Given the description of an element on the screen output the (x, y) to click on. 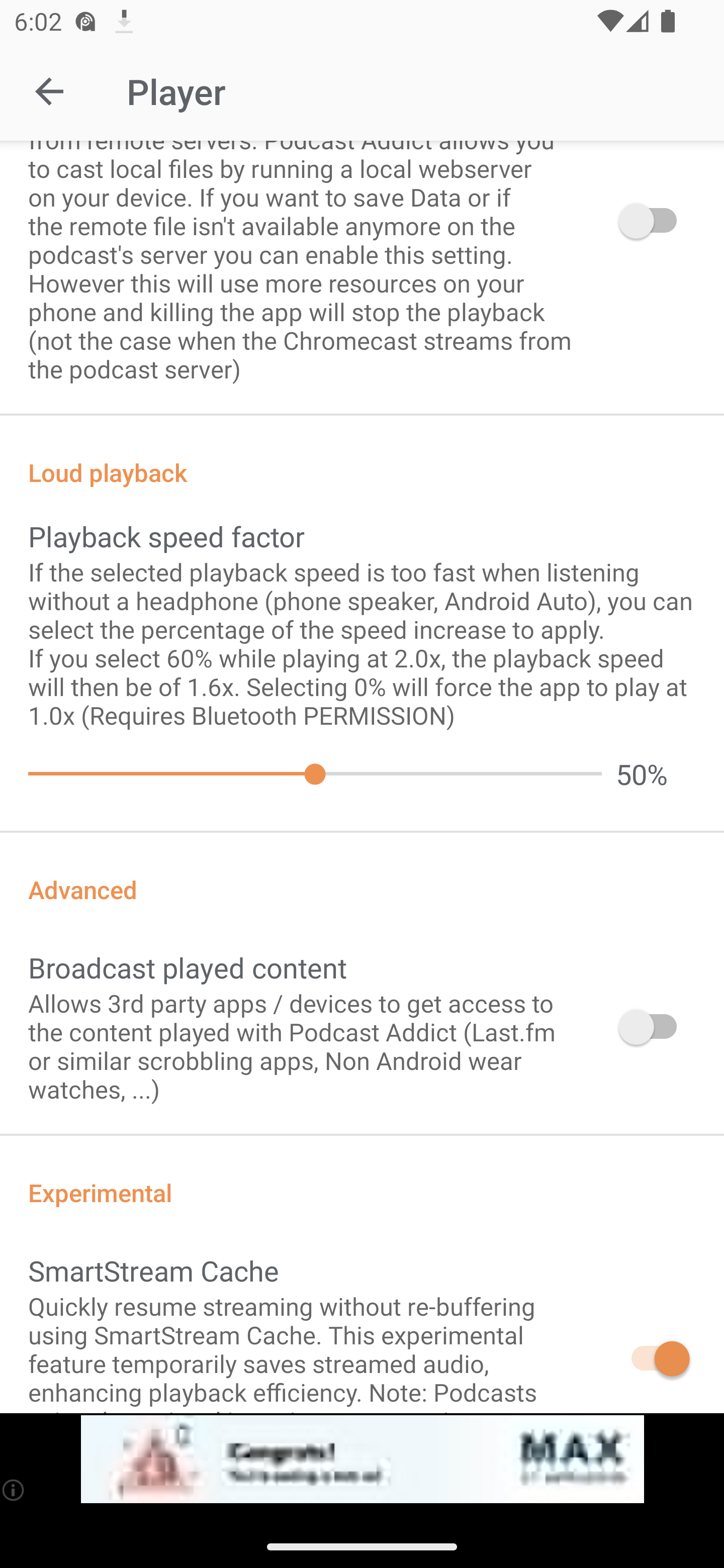
Navigate up (49, 91)
app-monetization (362, 1459)
(i) (14, 1489)
